Given the description of an element on the screen output the (x, y) to click on. 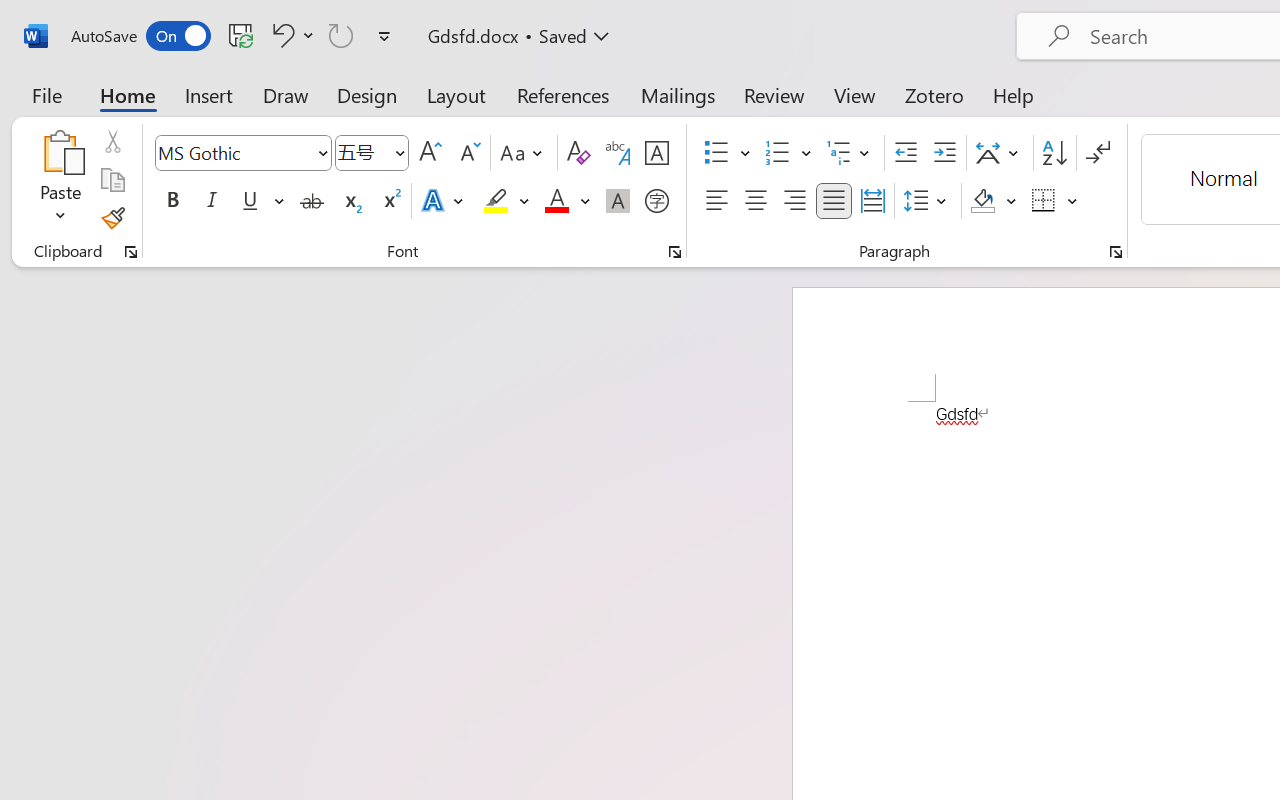
Undo Font Formatting (280, 35)
Font Color Red (556, 201)
